Given the description of an element on the screen output the (x, y) to click on. 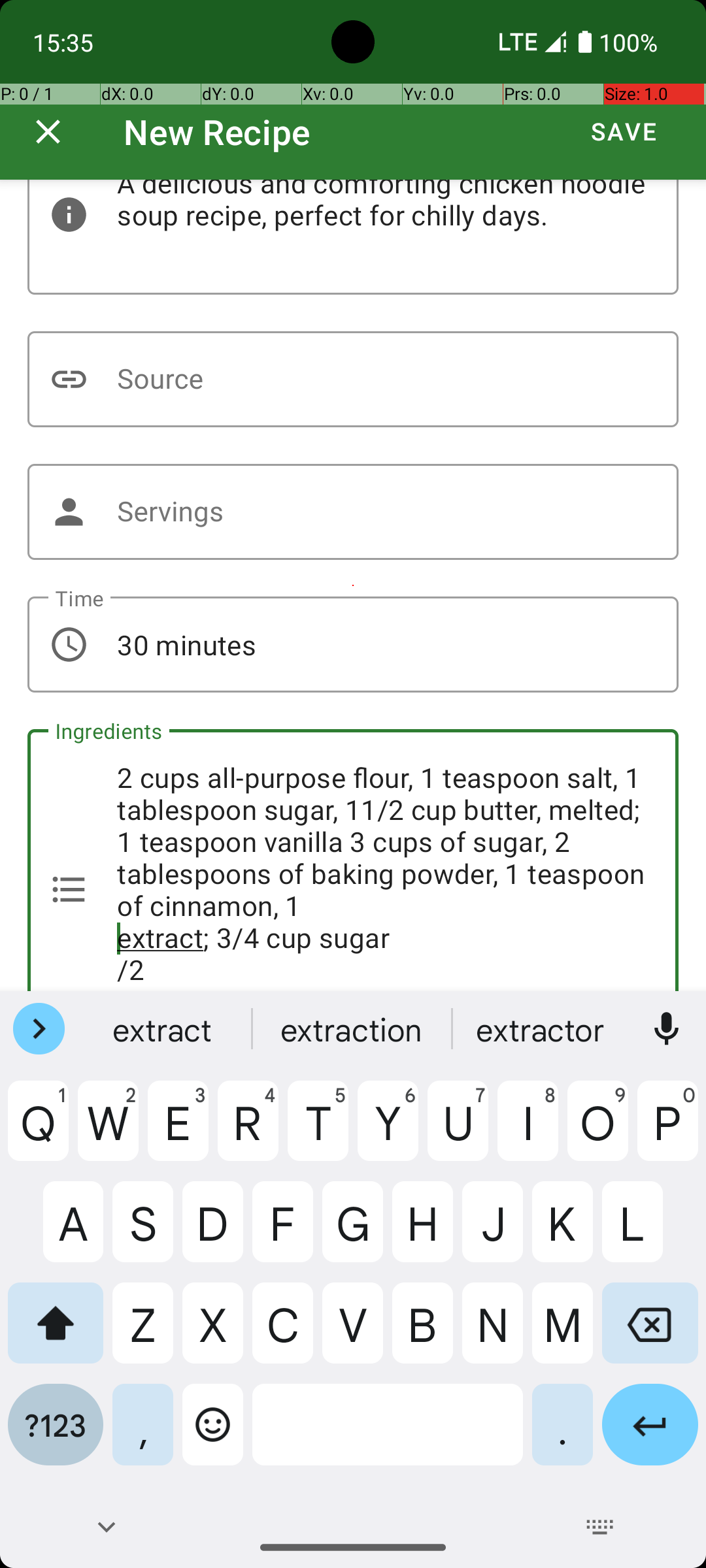
A delicious and comforting chicken noodle soup recipe, perfect for chilly days.
 Element type: android.widget.EditText (352, 236)
30 minutes Element type: android.widget.EditText (352, 644)
2 cups all-purpose flour, 1 teaspoon salt, 1 tablespoon sugar, 11/2 cup butter, melted; 1 teaspoon vanilla 3 cups of sugar, 2 tablespoons of baking powder, 1 teaspoon of cinnamon, 1
extract; 3/4 cup sugar
/2
 Element type: android.widget.EditText (352, 860)
extract Element type: android.widget.FrameLayout (163, 1028)
extraction Element type: android.widget.FrameLayout (352, 1028)
extractor Element type: android.widget.FrameLayout (541, 1028)
